Given the description of an element on the screen output the (x, y) to click on. 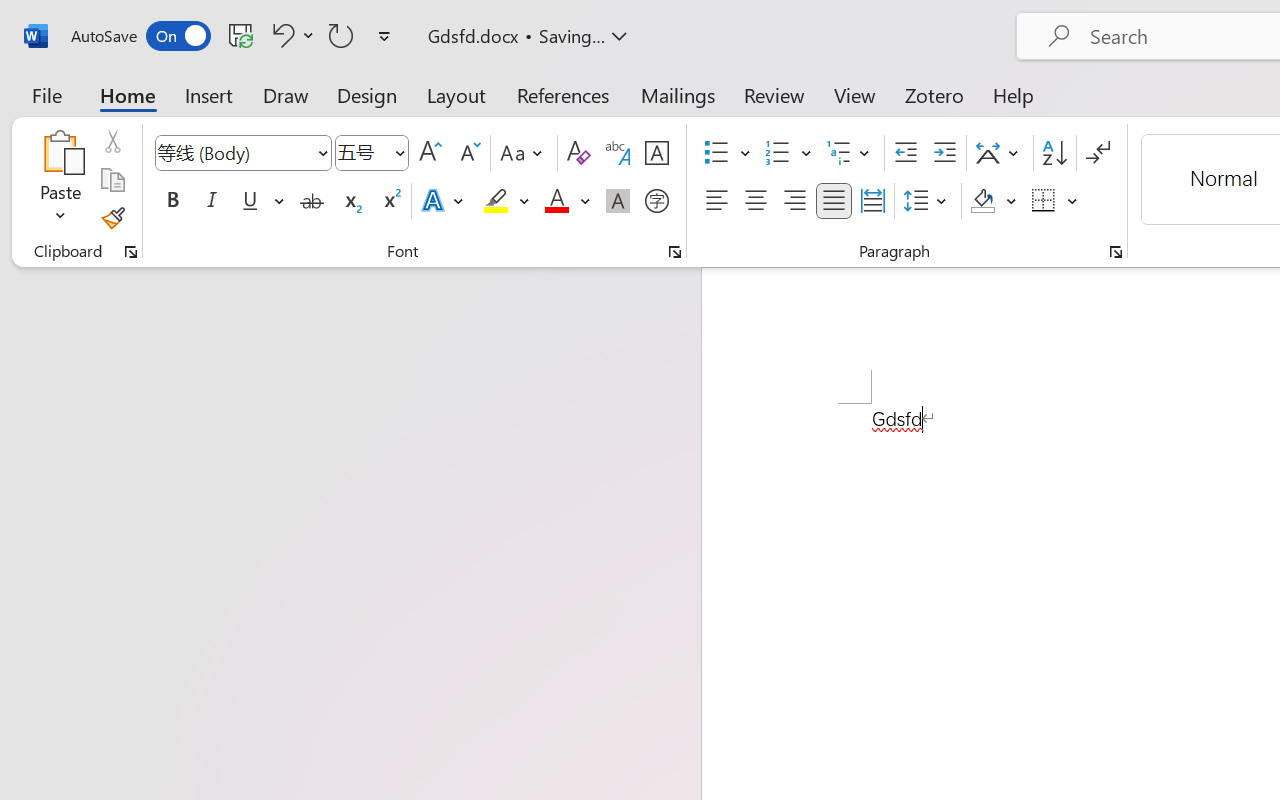
Change Case (524, 153)
Clear Formatting (578, 153)
Enclose Characters... (656, 201)
Shrink Font (468, 153)
Multilevel List (850, 153)
Align Right (794, 201)
Show/Hide Editing Marks (1098, 153)
